Given the description of an element on the screen output the (x, y) to click on. 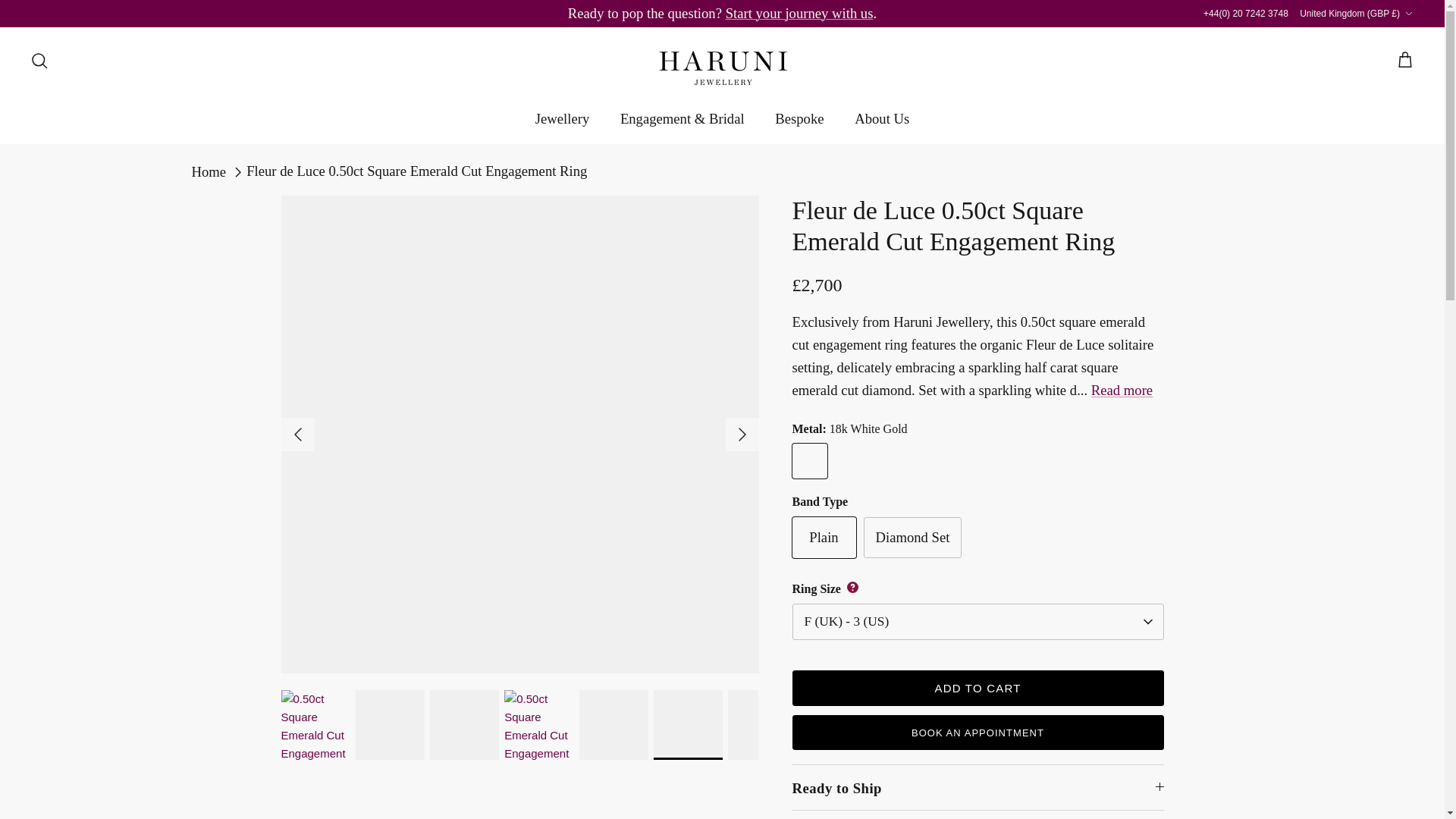
Haruni Jewellery (722, 68)
Start your journey with us (799, 12)
RIGHT (741, 434)
Contact Us (799, 12)
Down (1408, 13)
LEFT (296, 434)
